Given the description of an element on the screen output the (x, y) to click on. 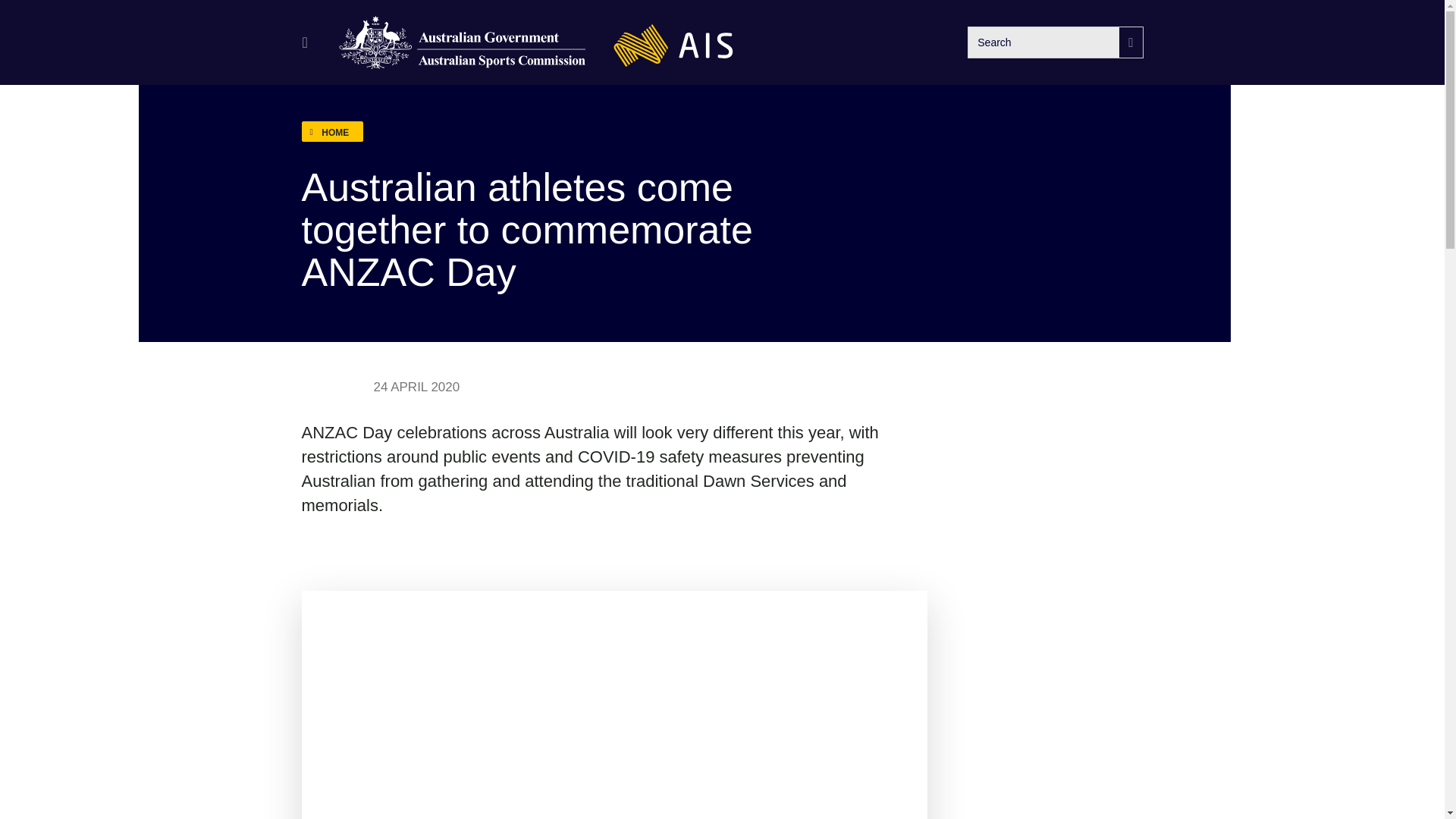
Skip to content (22, 23)
Australian Institute of Sport (672, 42)
Australian Sports Commission (462, 42)
